Given the description of an element on the screen output the (x, y) to click on. 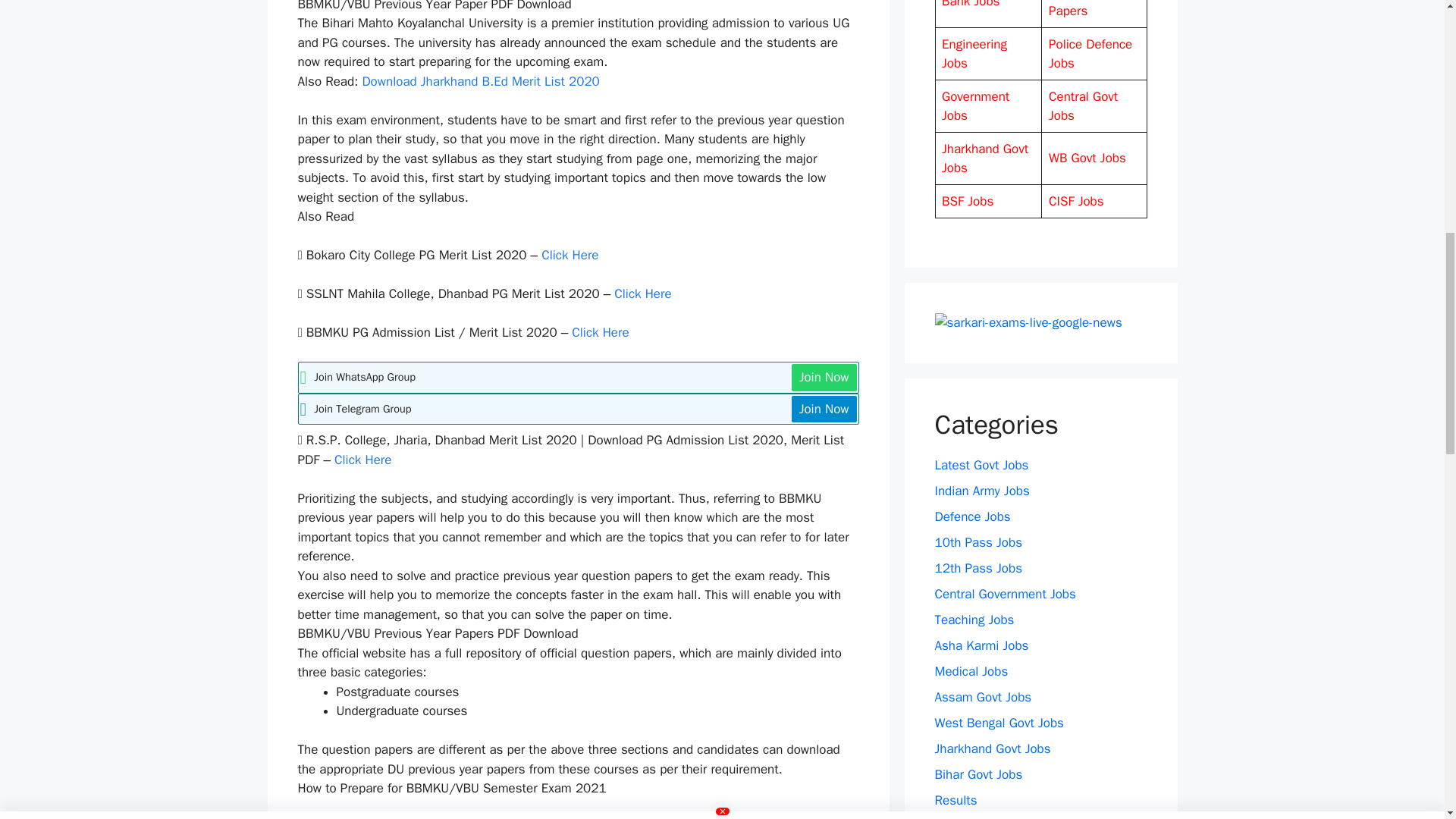
Click Here (569, 254)
Scroll back to top (1406, 720)
Click Here  (601, 332)
Click Here (362, 459)
Join Now (824, 377)
Join Now (824, 409)
Download Jharkhand B.Ed Merit List 2020 (479, 81)
Click Here (642, 293)
